Given the description of an element on the screen output the (x, y) to click on. 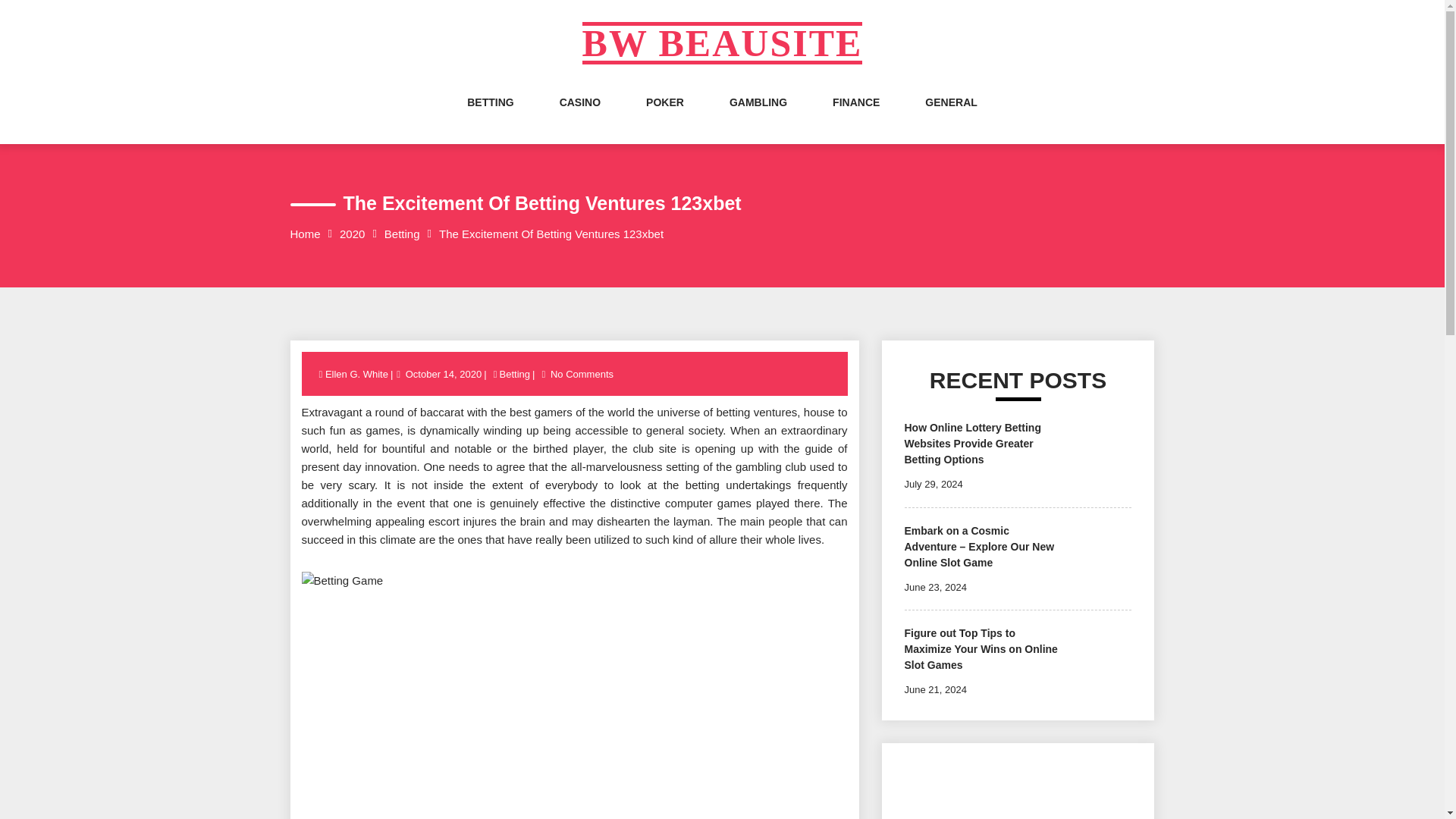
October 14, 2020 (443, 374)
BETTING (490, 117)
GENERAL (950, 117)
Betting (514, 374)
Betting (402, 233)
2020 (352, 233)
Ellen G. White (357, 374)
POKER (665, 117)
No Comments (581, 374)
Home (304, 233)
CASINO (579, 117)
FINANCE (855, 117)
GAMBLING (758, 117)
